Given the description of an element on the screen output the (x, y) to click on. 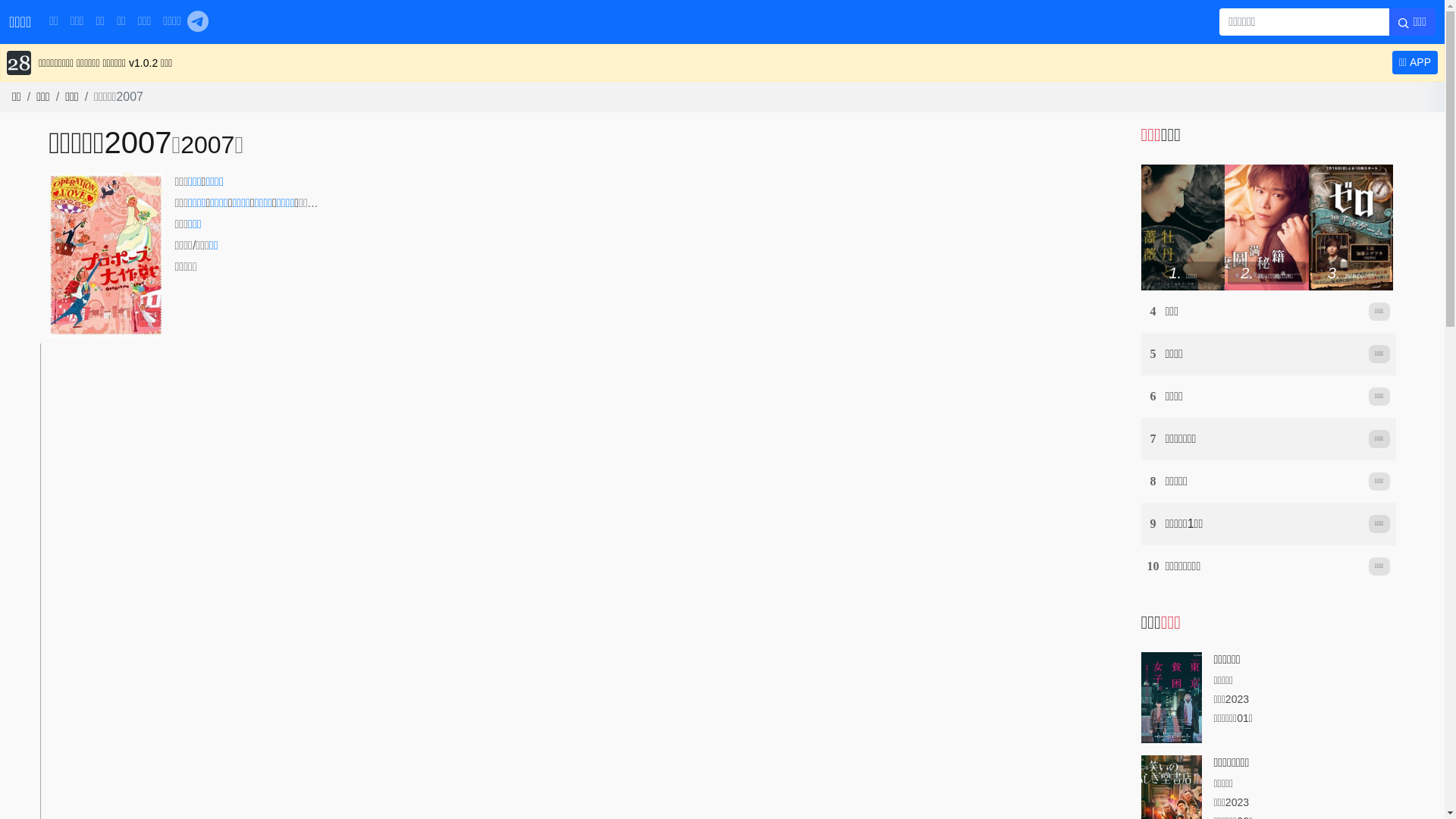
2007 Element type: text (207, 144)
